Given the description of an element on the screen output the (x, y) to click on. 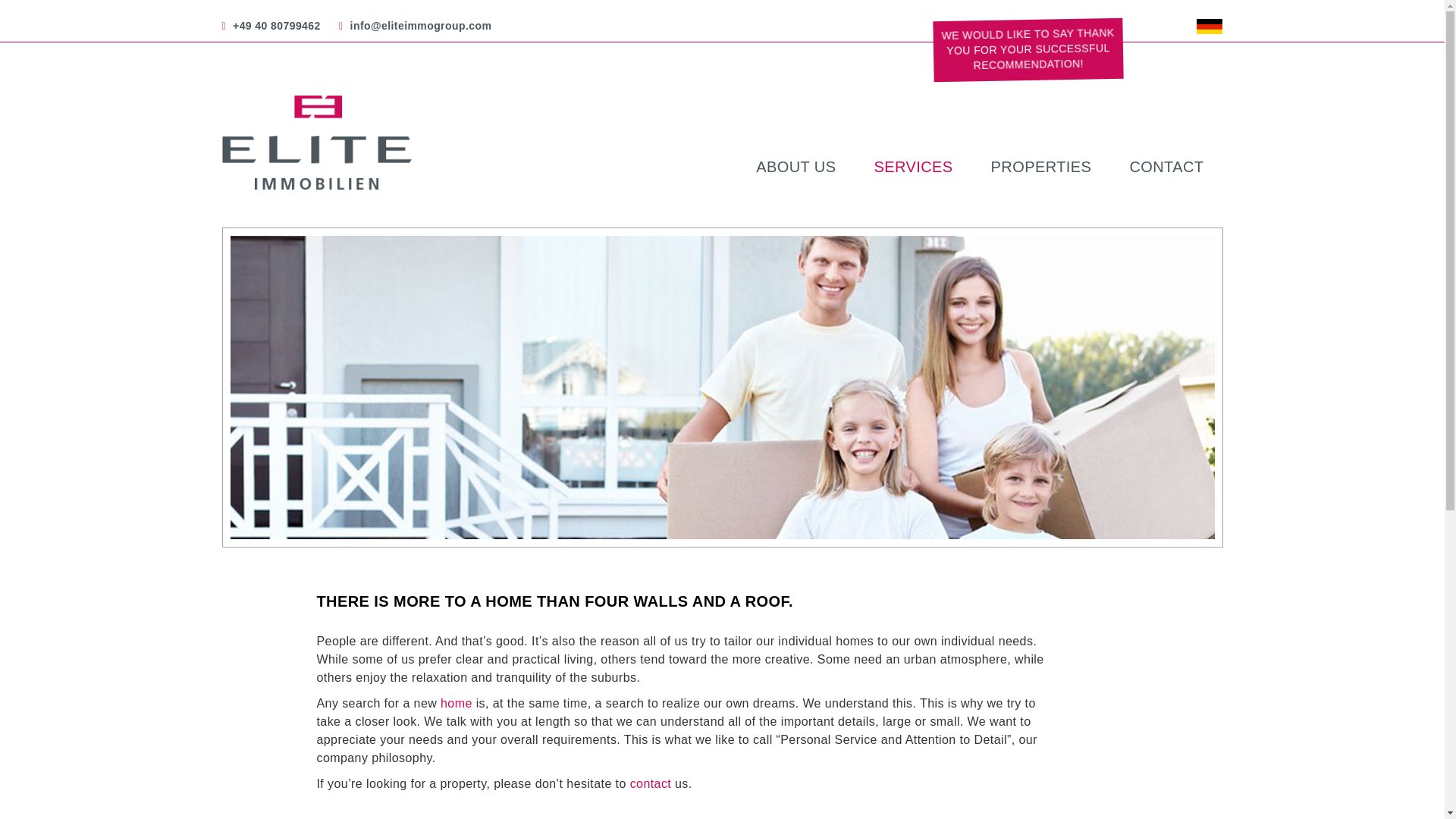
DE (1209, 26)
ABOUT US (795, 166)
Elite Immobilien (337, 142)
